Given the description of an element on the screen output the (x, y) to click on. 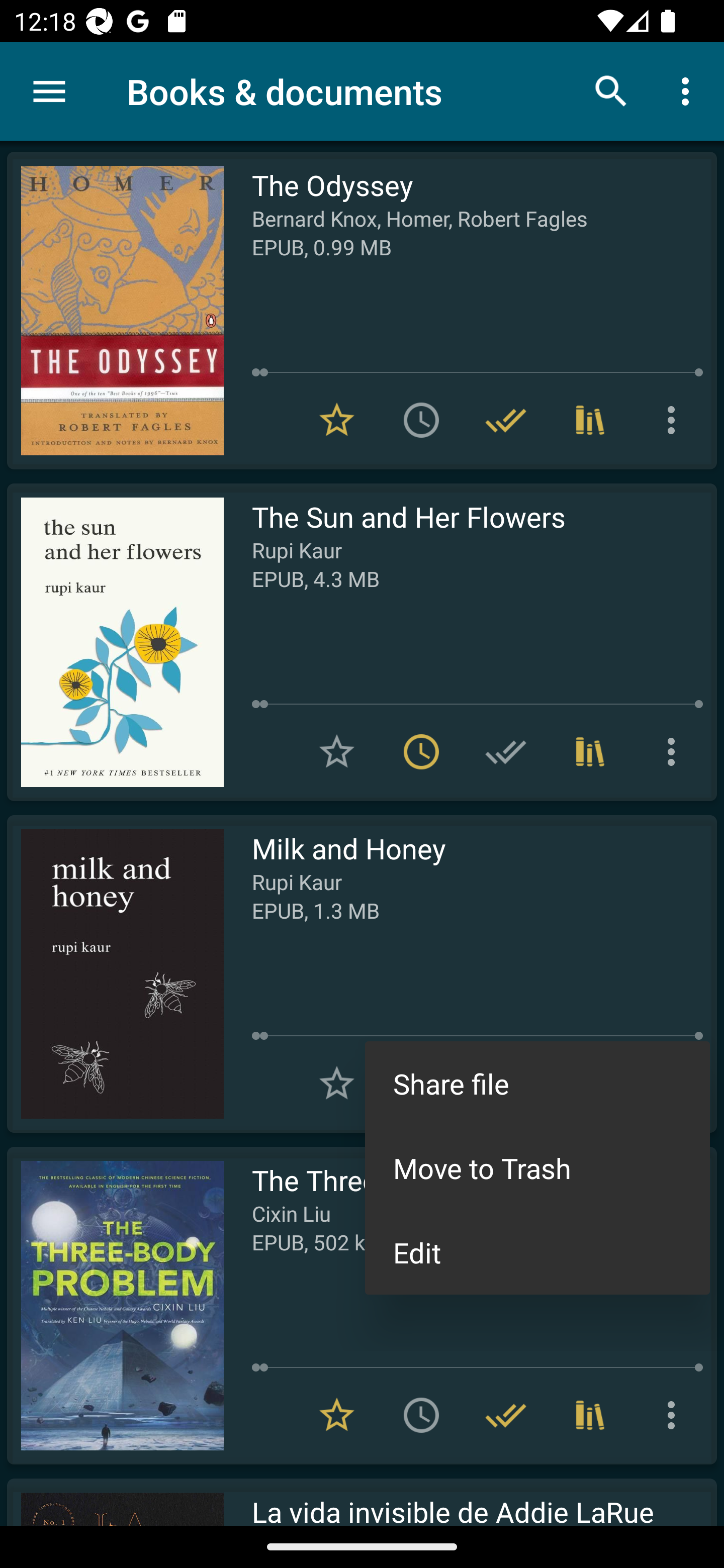
Share file (537, 1083)
Move to Trash (537, 1167)
Edit (537, 1252)
